Given the description of an element on the screen output the (x, y) to click on. 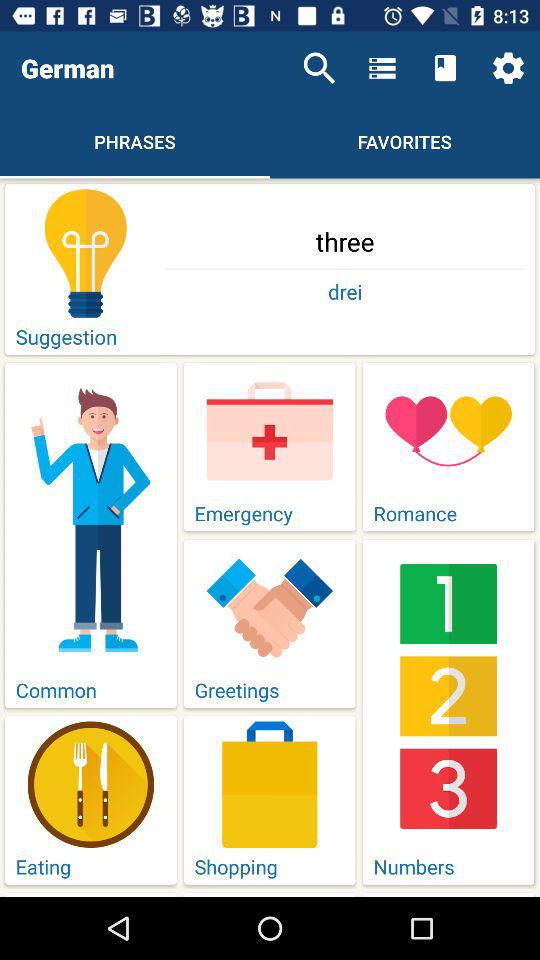
click the icon to the right of german icon (319, 67)
